Given the description of an element on the screen output the (x, y) to click on. 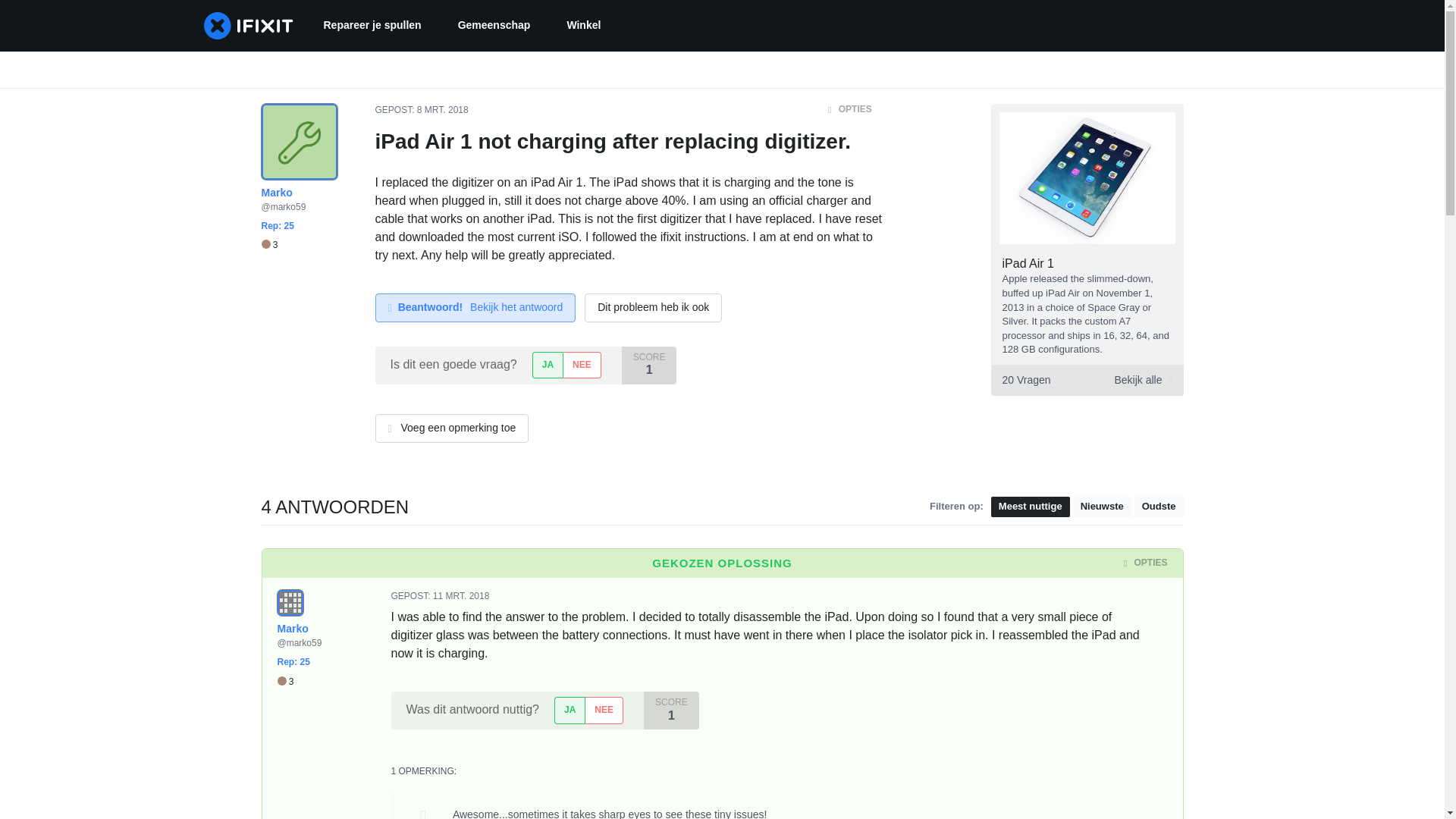
Nieuwste (1102, 506)
Sun, 11 Mar 2018 14:11:07 -0700 (460, 595)
iPad Air 1 (1028, 263)
GEPOST: 8 MRT. 2018 (420, 109)
Dit probleem heb ik ook (653, 307)
Gemeenschap (493, 25)
Thu, 08 Mar 2018 19:28:38 -0700 (442, 109)
Winkel (583, 25)
3 Brons badges (269, 245)
Beantwoord! Bekijk het antwoord (474, 307)
